Given the description of an element on the screen output the (x, y) to click on. 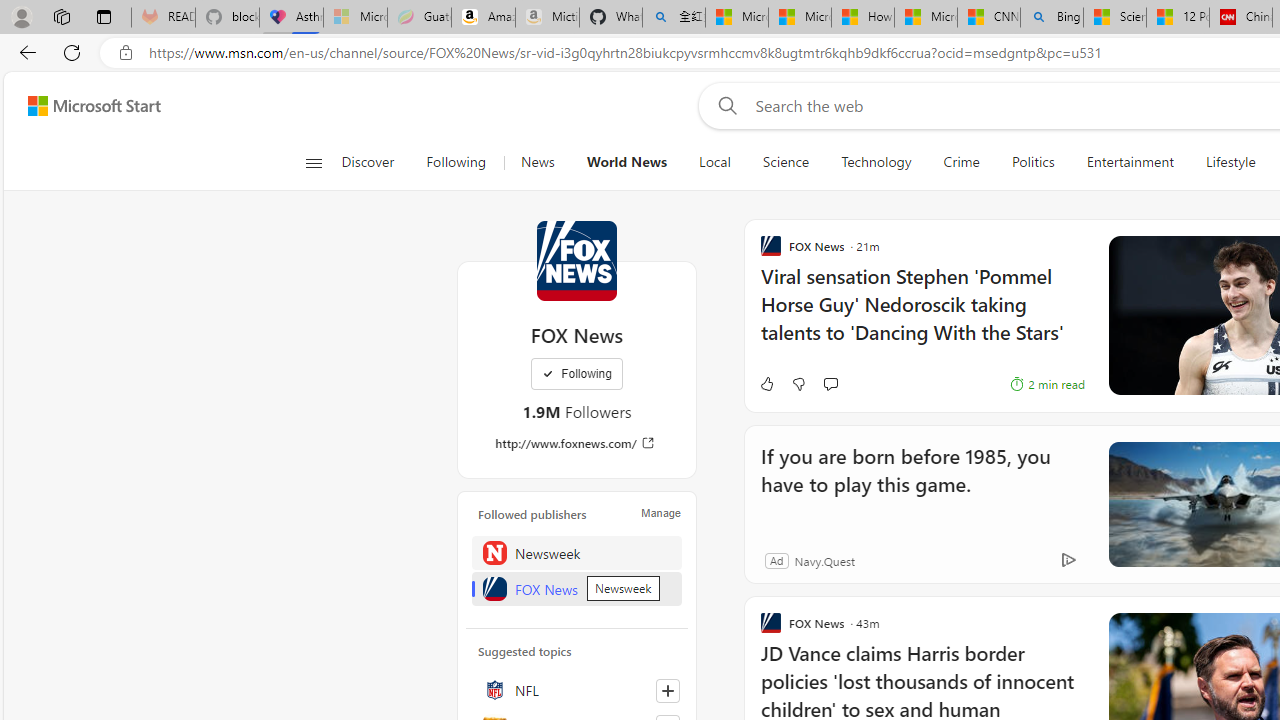
NFL (577, 690)
Like (766, 384)
